Given the description of an element on the screen output the (x, y) to click on. 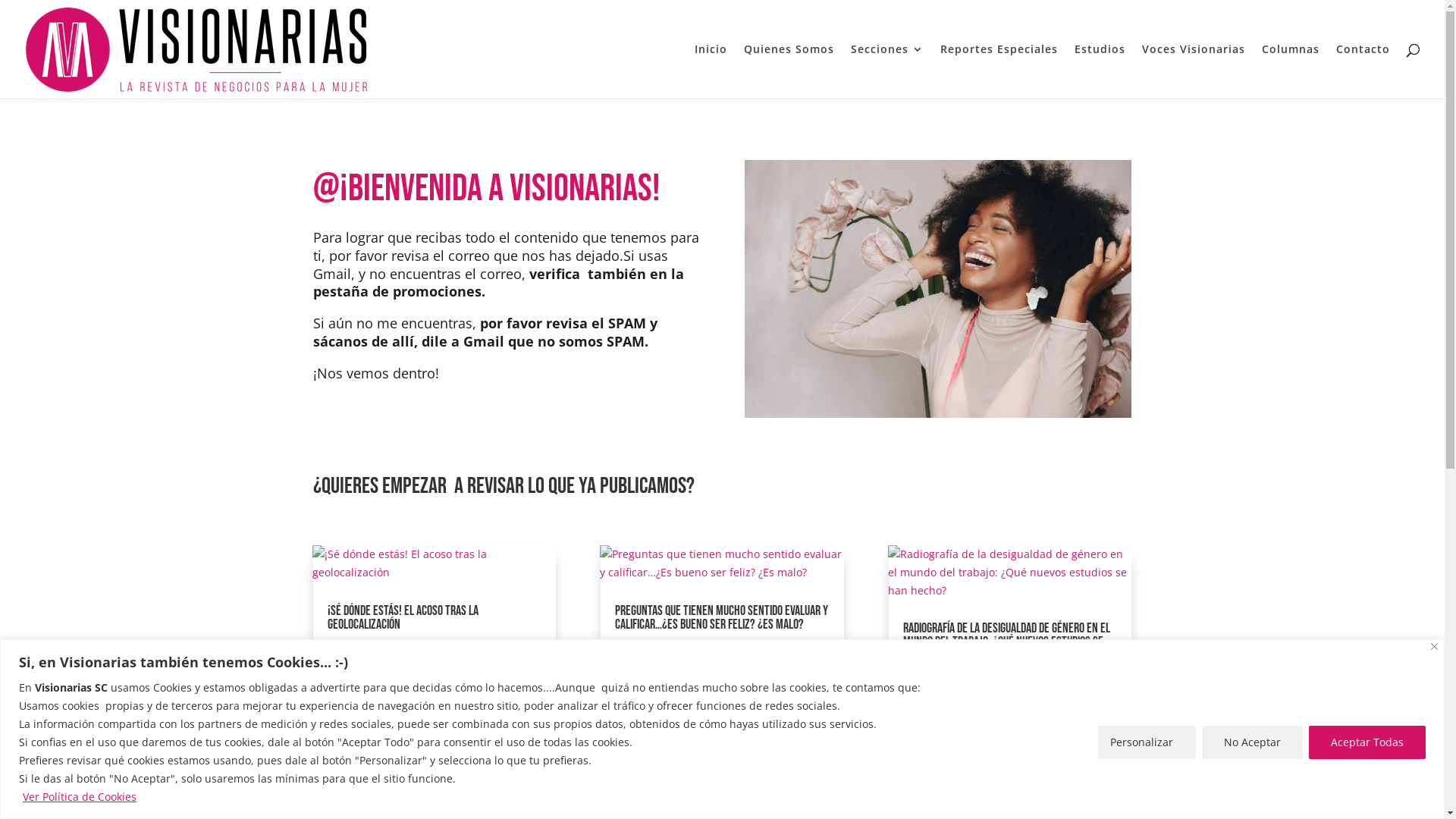
Trade Center Element type: text (974, 697)
Columnas Element type: text (1290, 70)
Quienes Somos Element type: text (788, 70)
Voces Visionarias Element type: text (496, 665)
Esther Alfonzo Element type: text (383, 647)
Secciones Element type: text (886, 70)
Voces Visionarias Element type: text (713, 674)
Laura Ingino Element type: text (955, 678)
Voces Visionarias Element type: text (1193, 70)
Personalizar Element type: text (1146, 741)
Esther Alfonzo Element type: text (364, 665)
Contacto Element type: text (1363, 70)
Estudios Element type: text (1099, 70)
Reportes Especiales Element type: text (998, 70)
Laura Ingino Element type: text (1004, 687)
Aceptar Todas Element type: text (1366, 741)
Vicky Navia Element type: text (663, 647)
Inicio Element type: text (710, 70)
suscripion confirmada a visionarias Element type: hover (937, 288)
No Aceptar Element type: text (1251, 741)
